Given the description of an element on the screen output the (x, y) to click on. 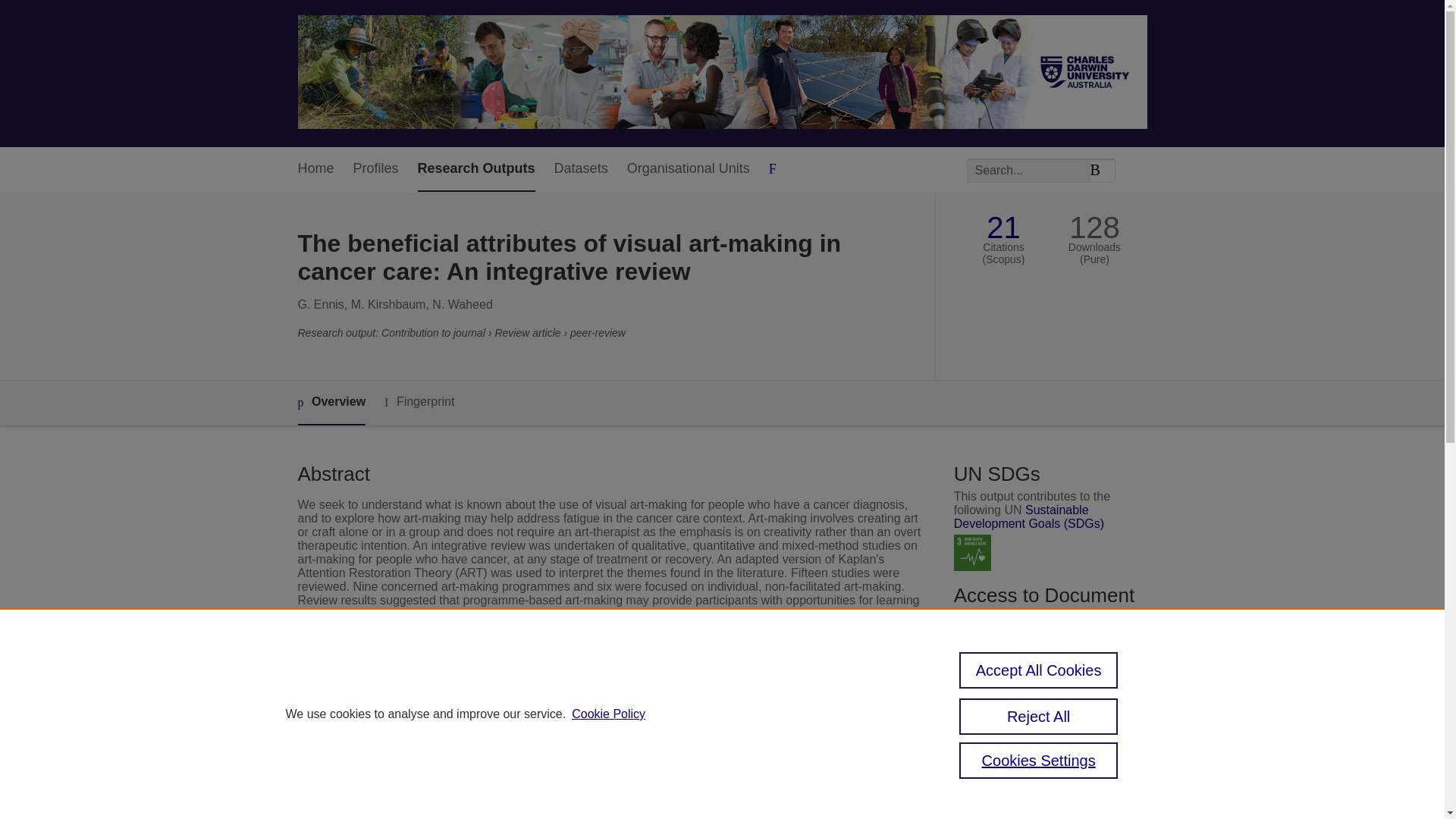
Link to publication in Scopus (1045, 762)
Datasets (581, 169)
Charles Darwin University Home (722, 73)
European Journal of Cancer Care (598, 762)
SDG 3 - Good Health and Well-being (972, 552)
Research Outputs (476, 169)
7312588-oa (998, 649)
Overview (331, 402)
Organisational Units (688, 169)
